Given the description of an element on the screen output the (x, y) to click on. 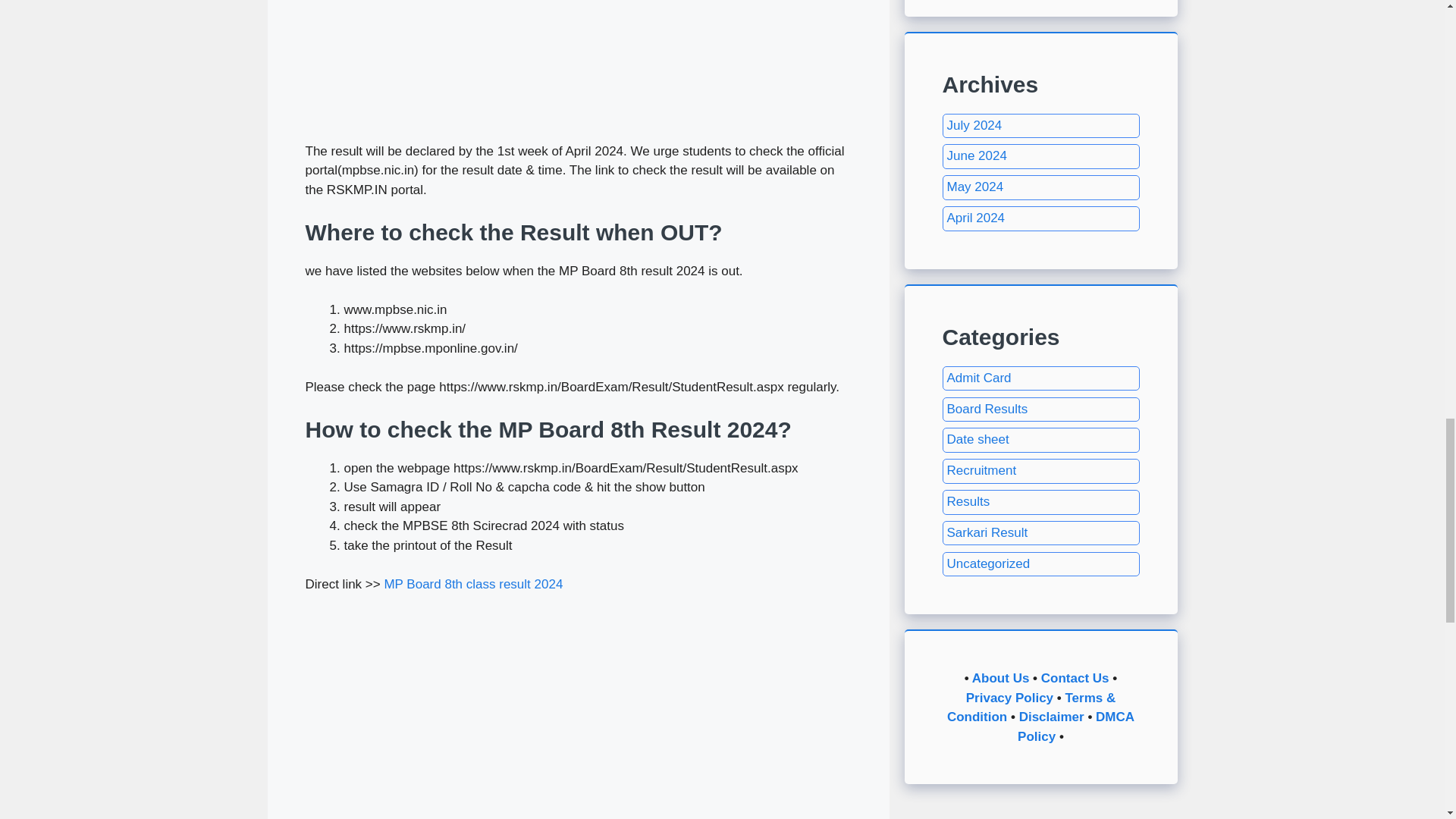
MP Board 8th class result 2024 (473, 584)
